Given the description of an element on the screen output the (x, y) to click on. 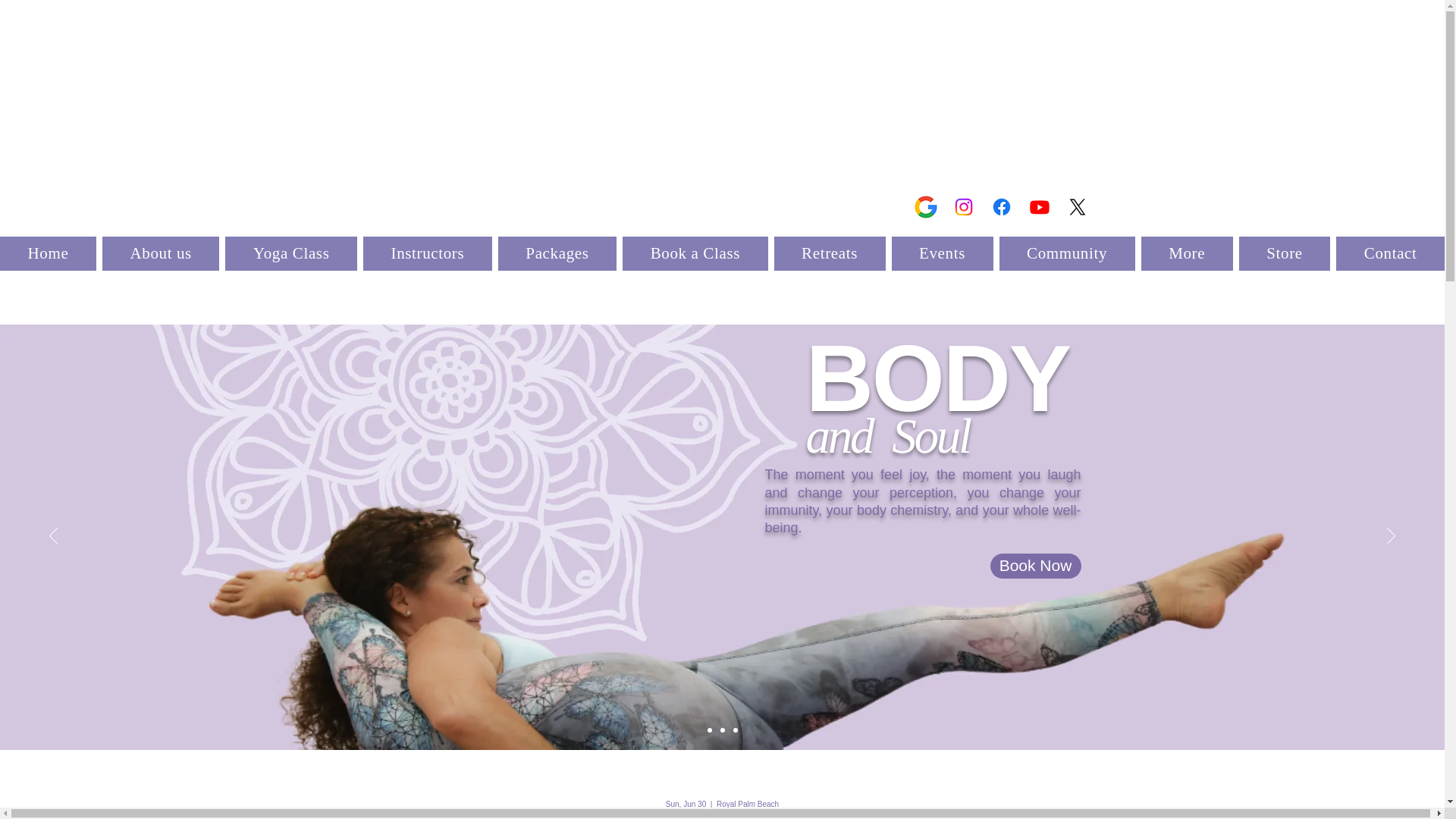
Yoga Class (290, 253)
Instructors (427, 253)
Retreats (829, 253)
About us (160, 253)
Home (48, 253)
More (1187, 253)
Book a Class (695, 253)
Community (1066, 253)
Contact (1390, 253)
Packages (556, 253)
Store (1284, 253)
Book Now (1035, 565)
Events (941, 253)
